Given the description of an element on the screen output the (x, y) to click on. 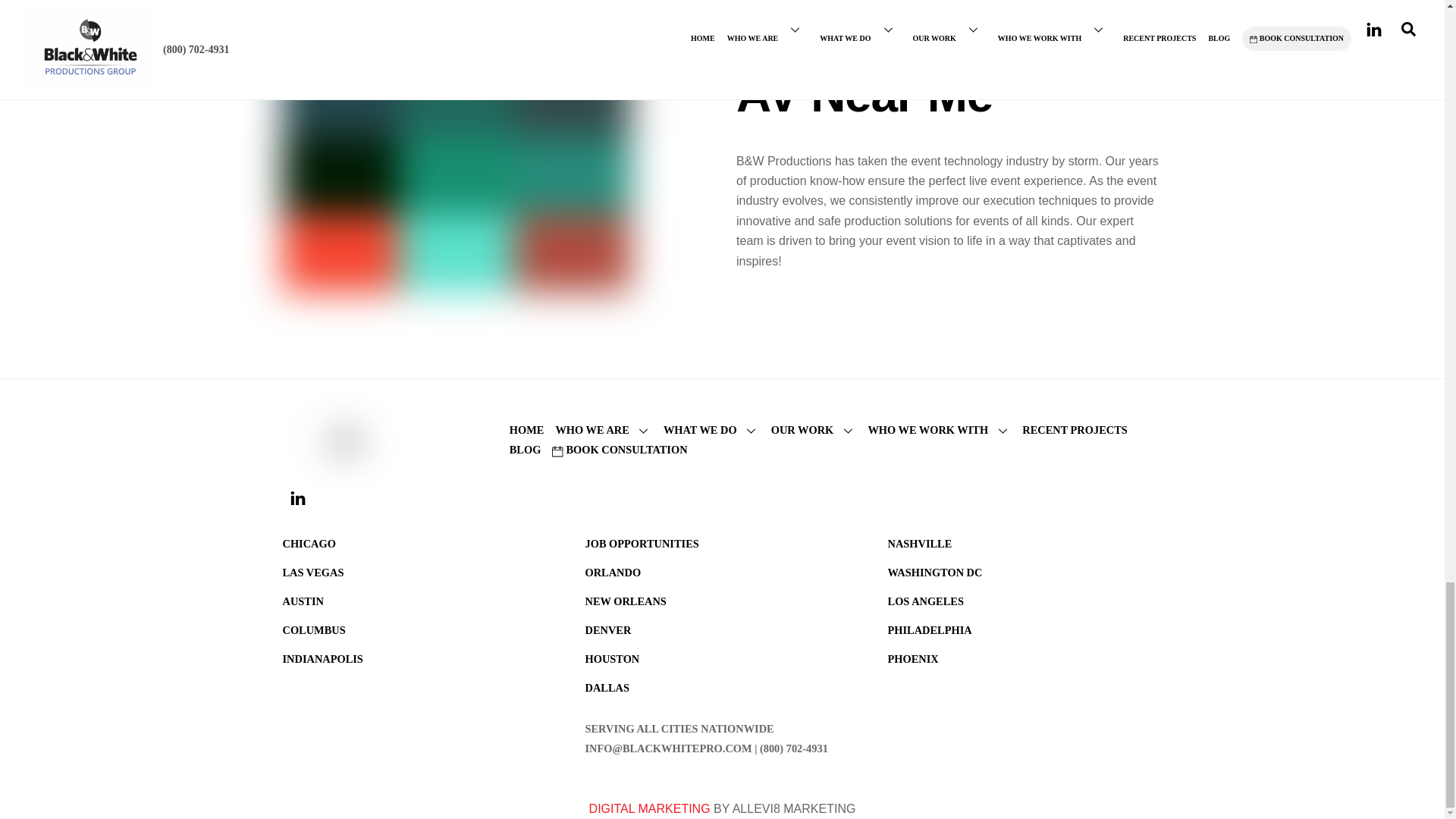
HOME (526, 429)
01black (320, 442)
WHAT WE DO (711, 429)
WHO WE ARE (602, 429)
